Given the description of an element on the screen output the (x, y) to click on. 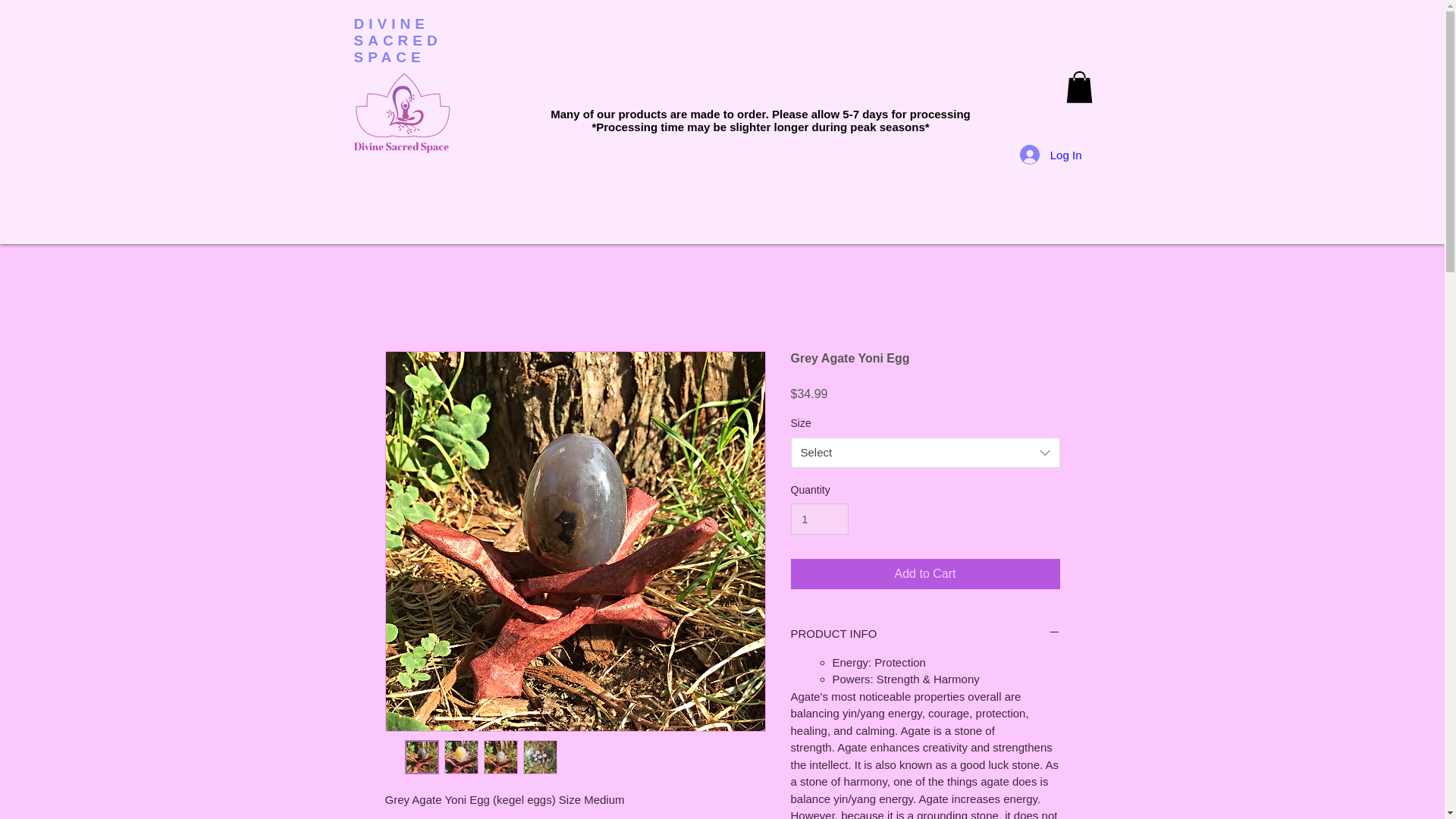
Select (924, 452)
Log In (1051, 154)
PRODUCT INFO (924, 633)
1 (818, 518)
Add to Cart (924, 573)
